Given the description of an element on the screen output the (x, y) to click on. 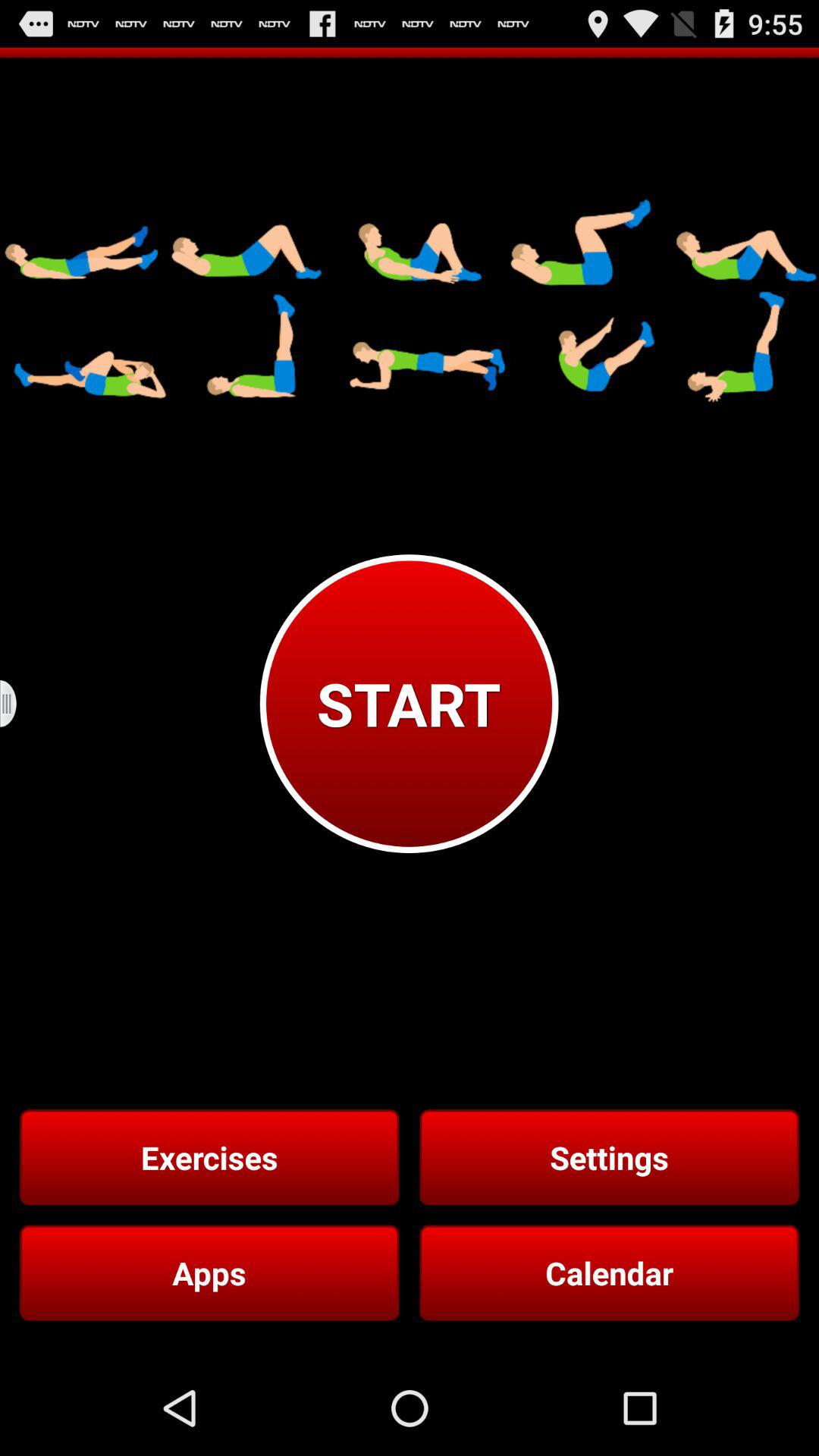
flip until apps item (209, 1272)
